Given the description of an element on the screen output the (x, y) to click on. 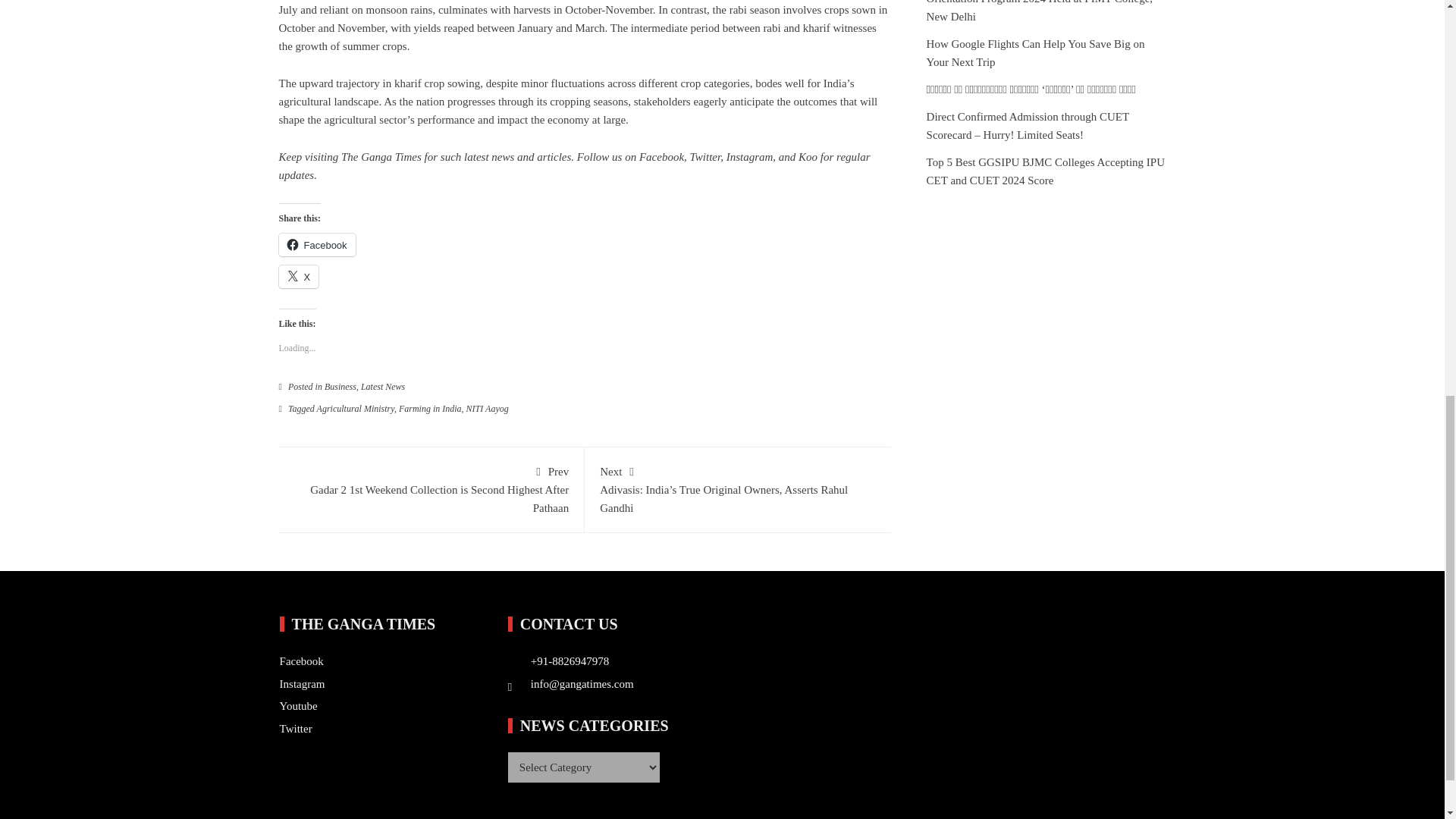
Click to share on X (298, 276)
Business (340, 386)
Latest News (382, 386)
Instagram (749, 156)
Twitter (705, 156)
Farming in India (429, 408)
Facebook (661, 156)
Agricultural Ministry (355, 408)
The Ganga Times (381, 156)
